Given the description of an element on the screen output the (x, y) to click on. 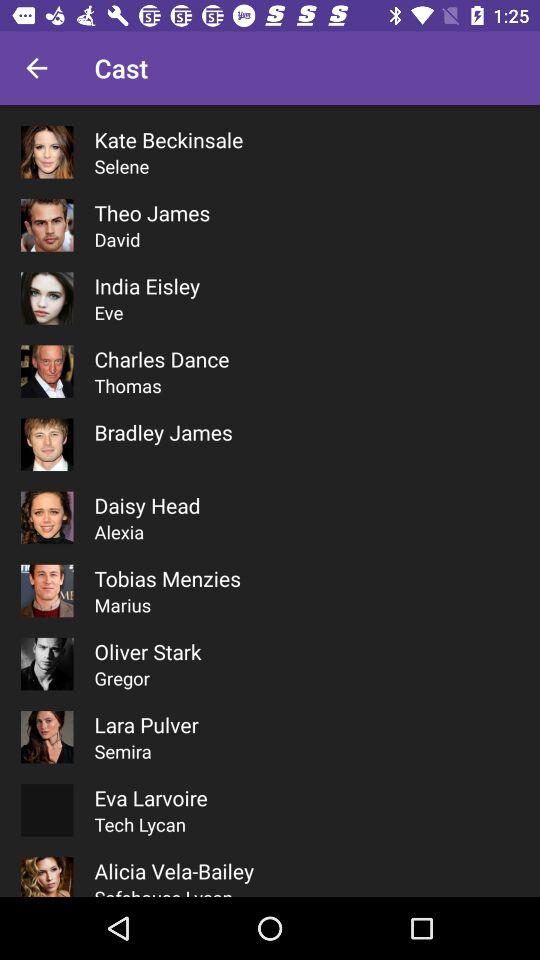
tap tech lycan item (140, 824)
